Given the description of an element on the screen output the (x, y) to click on. 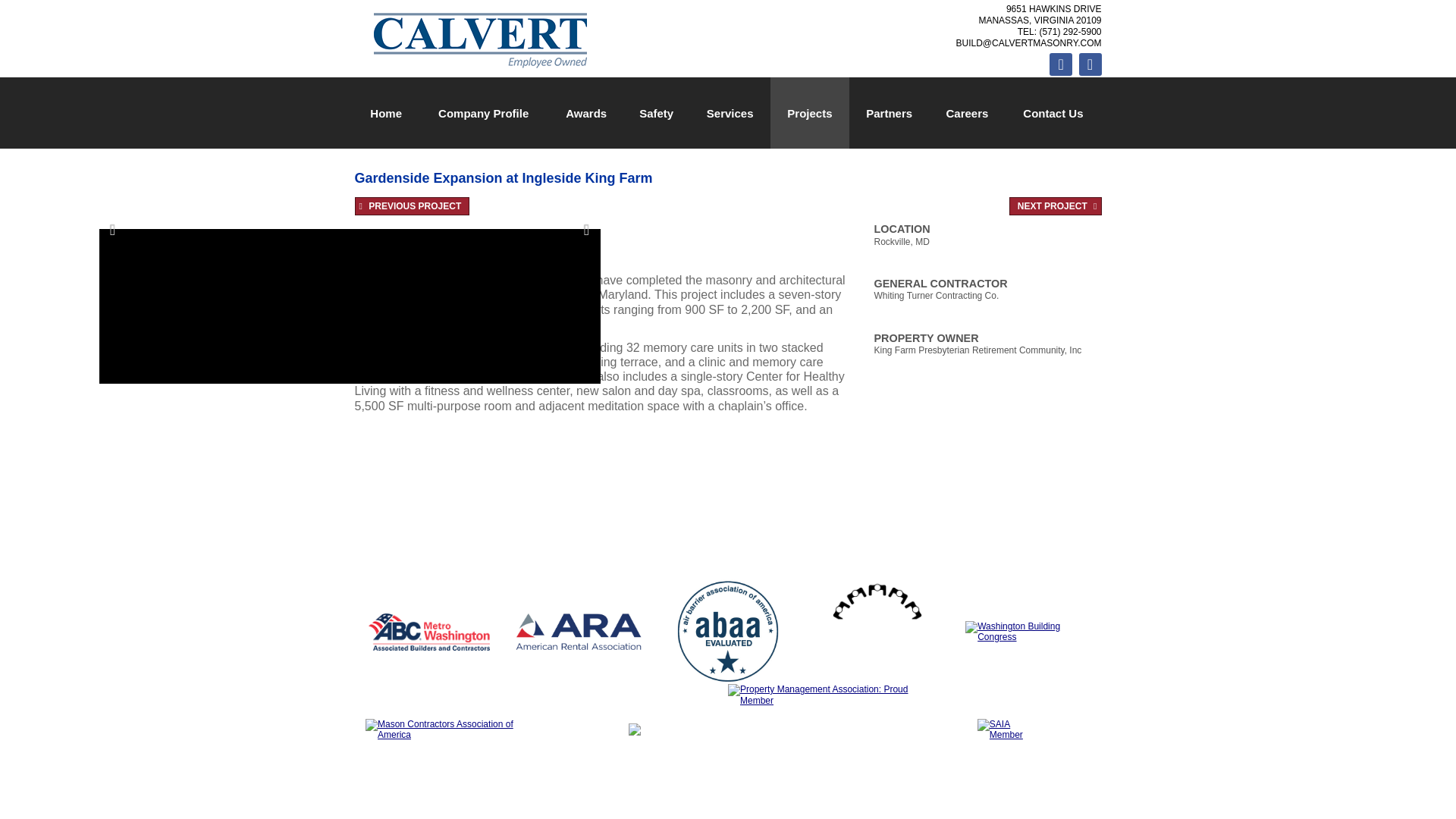
PREVIOUS PROJECT (412, 206)
Projects (809, 112)
Safety (655, 112)
Careers (968, 112)
Services (729, 112)
NEXT PROJECT (1055, 206)
Awards (585, 112)
Company Profile (483, 112)
Contact Us (1052, 112)
Partners (889, 112)
